Given the description of an element on the screen output the (x, y) to click on. 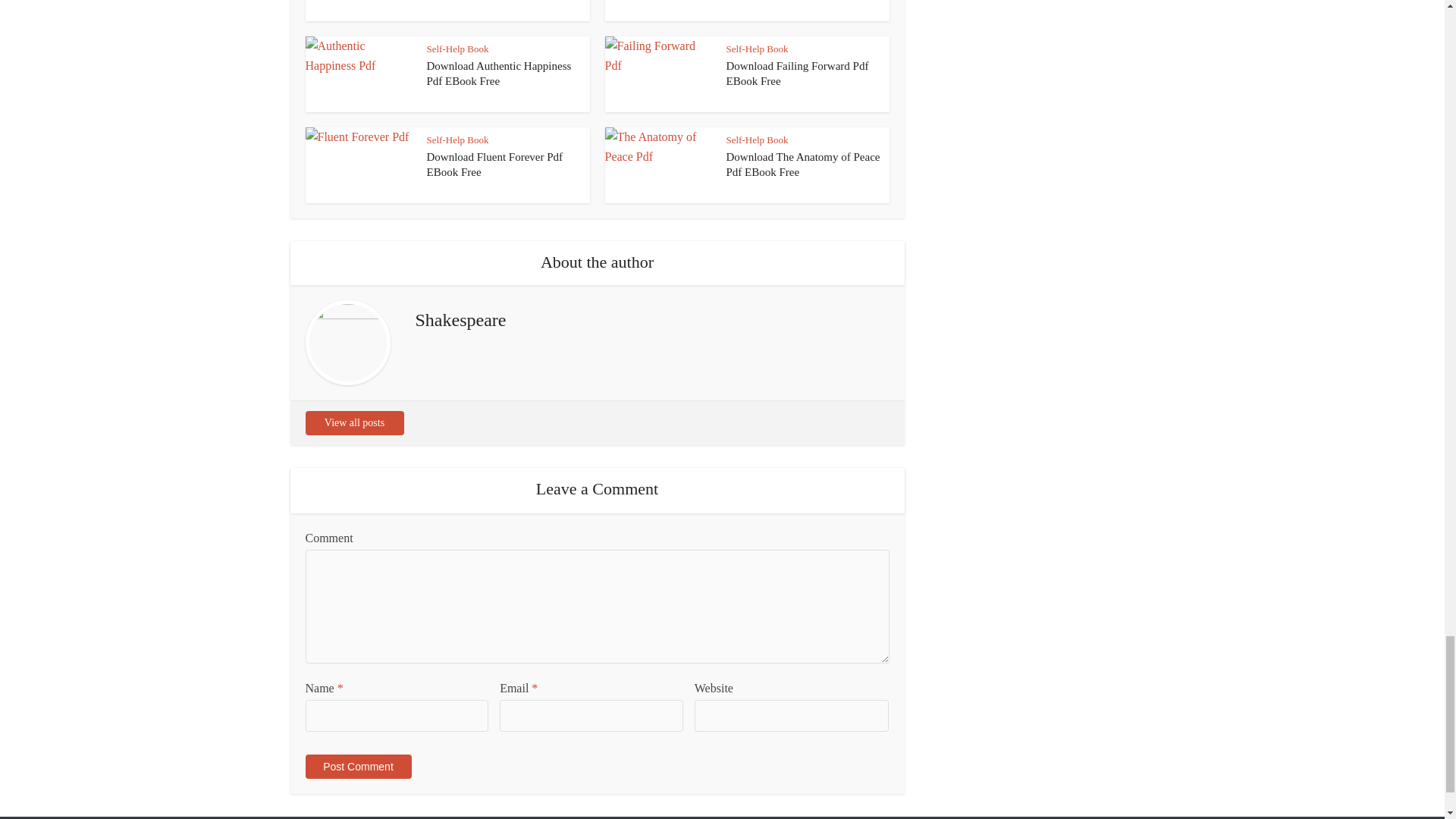
Download Authentic Happiness Pdf EBook Free (498, 72)
Download Failing Forward Pdf EBook Free (797, 72)
Self-Help Book (456, 48)
Post Comment (357, 766)
Download Authentic Happiness Pdf EBook Free (498, 72)
Download The Anatomy of Peace Pdf EBook Free (803, 164)
Download Fluent Forever Pdf EBook Free (494, 164)
